Given the description of an element on the screen output the (x, y) to click on. 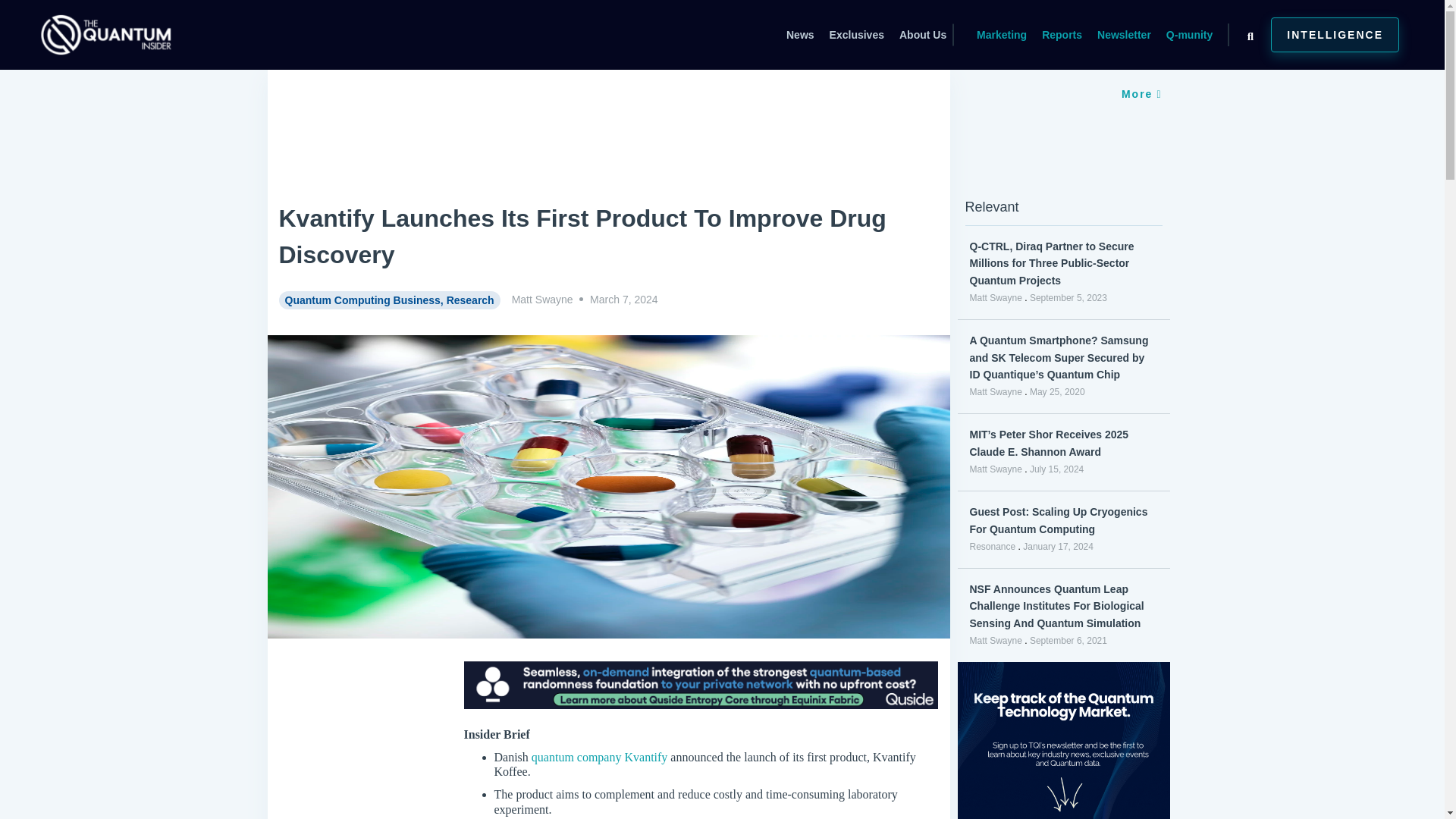
INTELLIGENCE (1335, 34)
Newsletter (1124, 34)
About Us (922, 34)
Marketing (1001, 34)
Reports (1061, 34)
Exclusives (855, 34)
Q-munity (1189, 34)
